Given the description of an element on the screen output the (x, y) to click on. 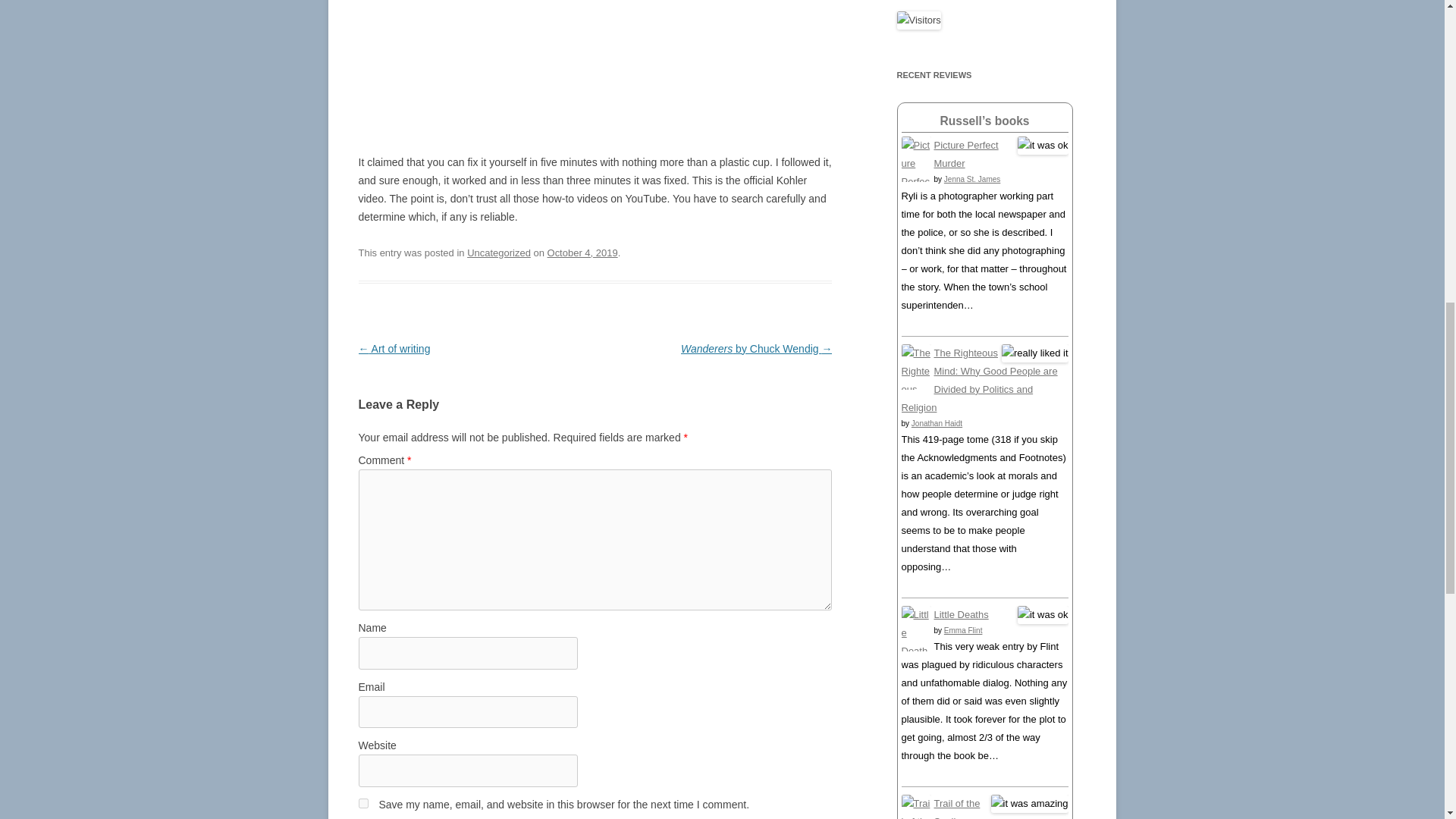
October 4, 2019 (582, 252)
Picture Perfect Murder (966, 153)
Uncategorized (499, 252)
Trail of the Spellmans (956, 808)
Little Deaths (961, 614)
Jonathan Haidt (936, 423)
yes (363, 803)
Jenna St. James (971, 179)
Little Deaths (915, 668)
